Given the description of an element on the screen output the (x, y) to click on. 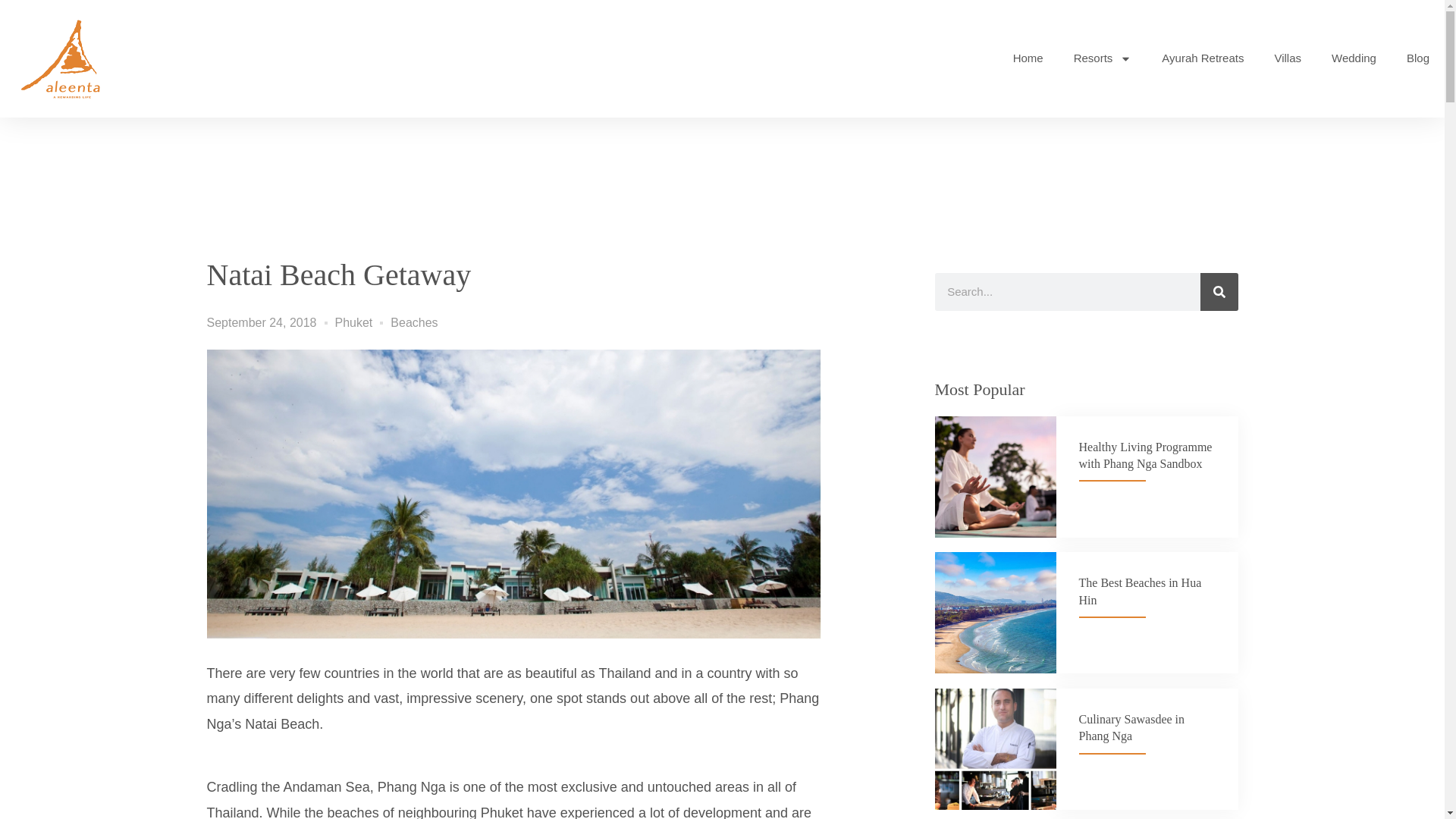
Beaches (414, 322)
Wedding (1353, 58)
Ayurah Retreats (1203, 58)
September 24, 2018 (260, 323)
Resorts (1102, 58)
Phuket (353, 322)
